Given the description of an element on the screen output the (x, y) to click on. 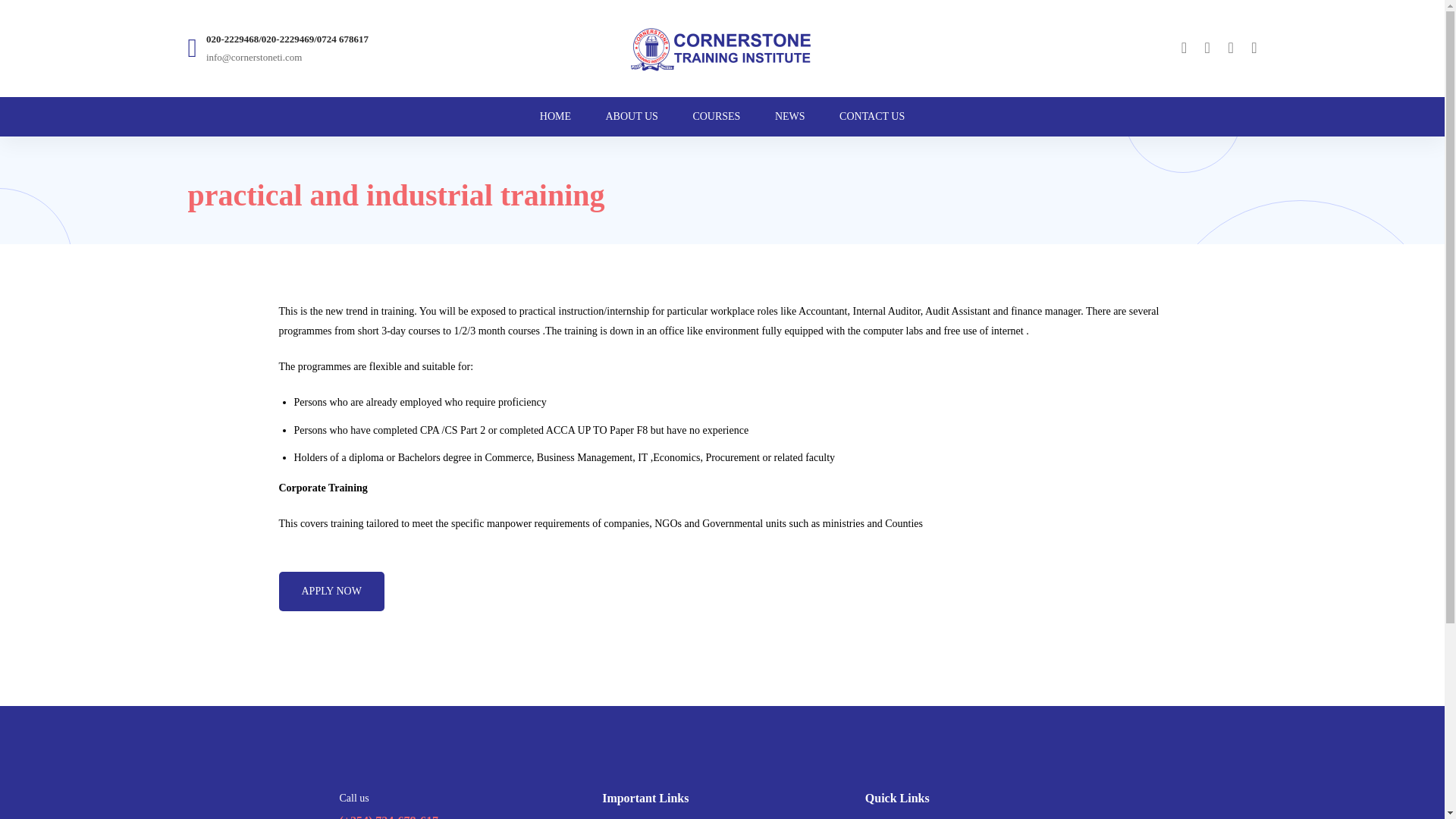
HOME (555, 116)
NEWS (789, 116)
APPLY NOW (331, 590)
CONTACT US (872, 116)
ABOUT US (631, 116)
COURSES (716, 116)
